Given the description of an element on the screen output the (x, y) to click on. 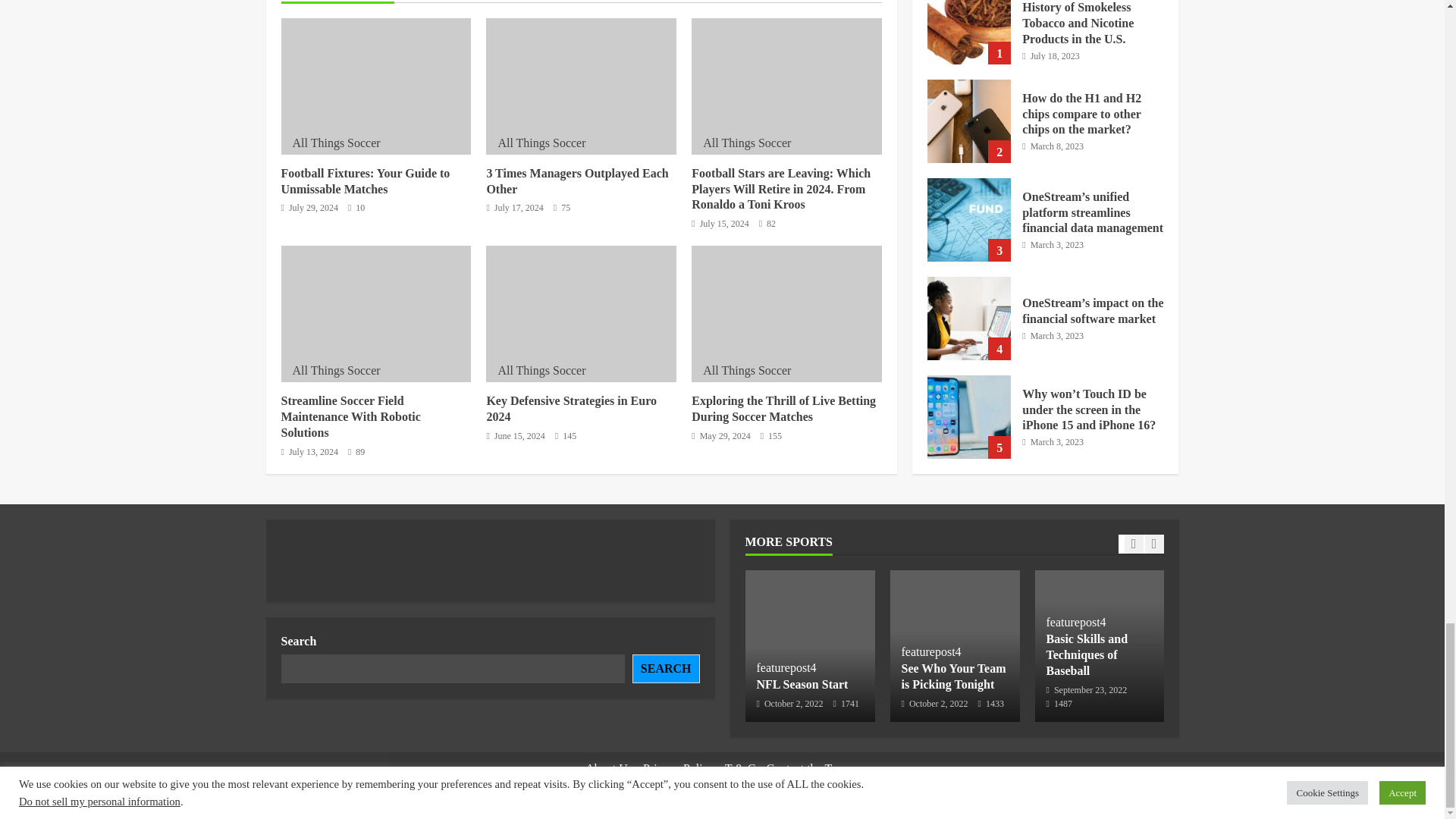
Football Fixtures: Your Guide to Unmissable Matches (375, 86)
All Things Soccer (336, 142)
Football Fixtures: Your Guide to Unmissable Matches (365, 181)
10 (356, 207)
